Given the description of an element on the screen output the (x, y) to click on. 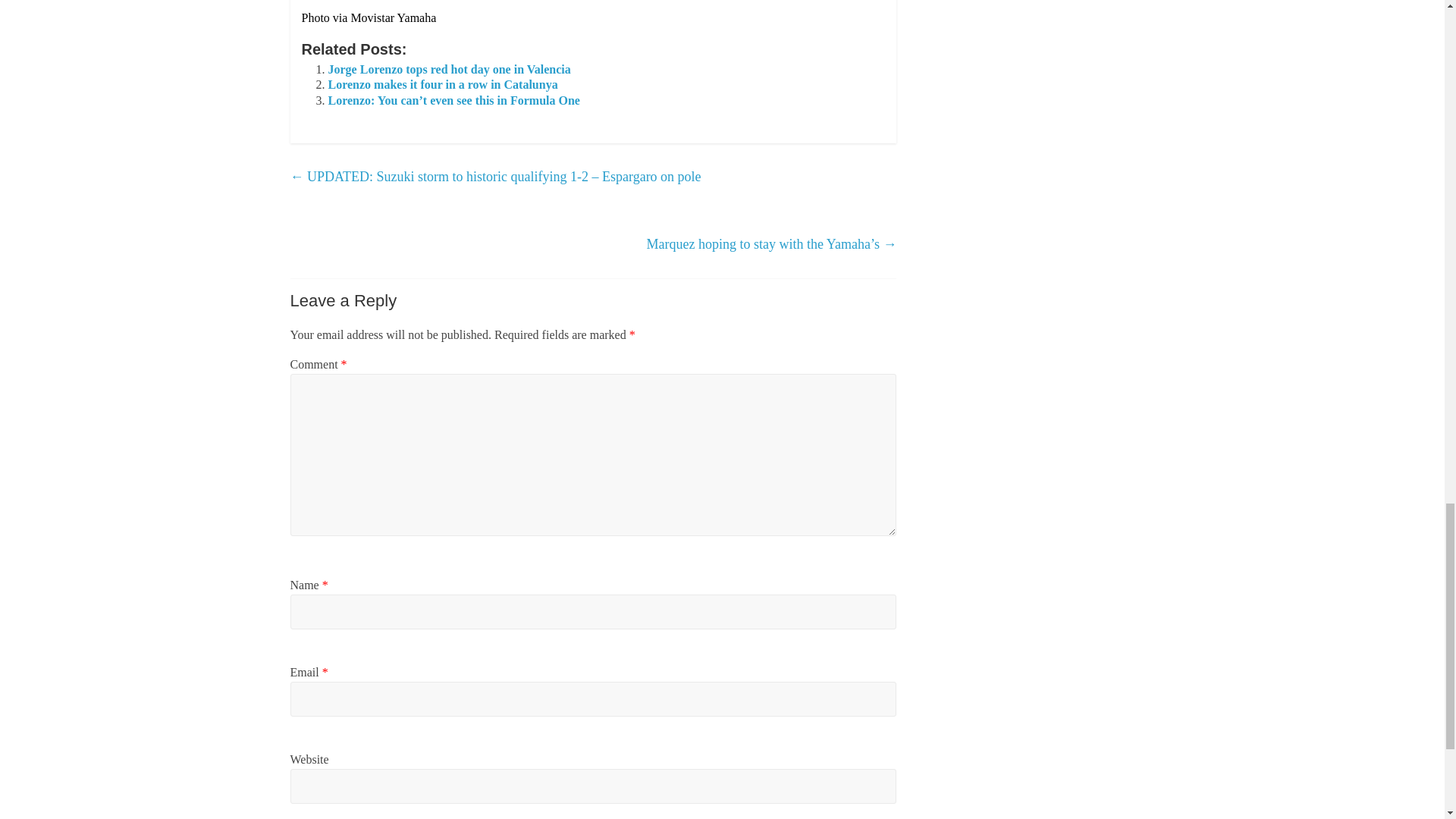
Jorge Lorenzo tops red hot day one in Valencia (448, 69)
Lorenzo makes it four in a row in Catalunya (442, 83)
